Given the description of an element on the screen output the (x, y) to click on. 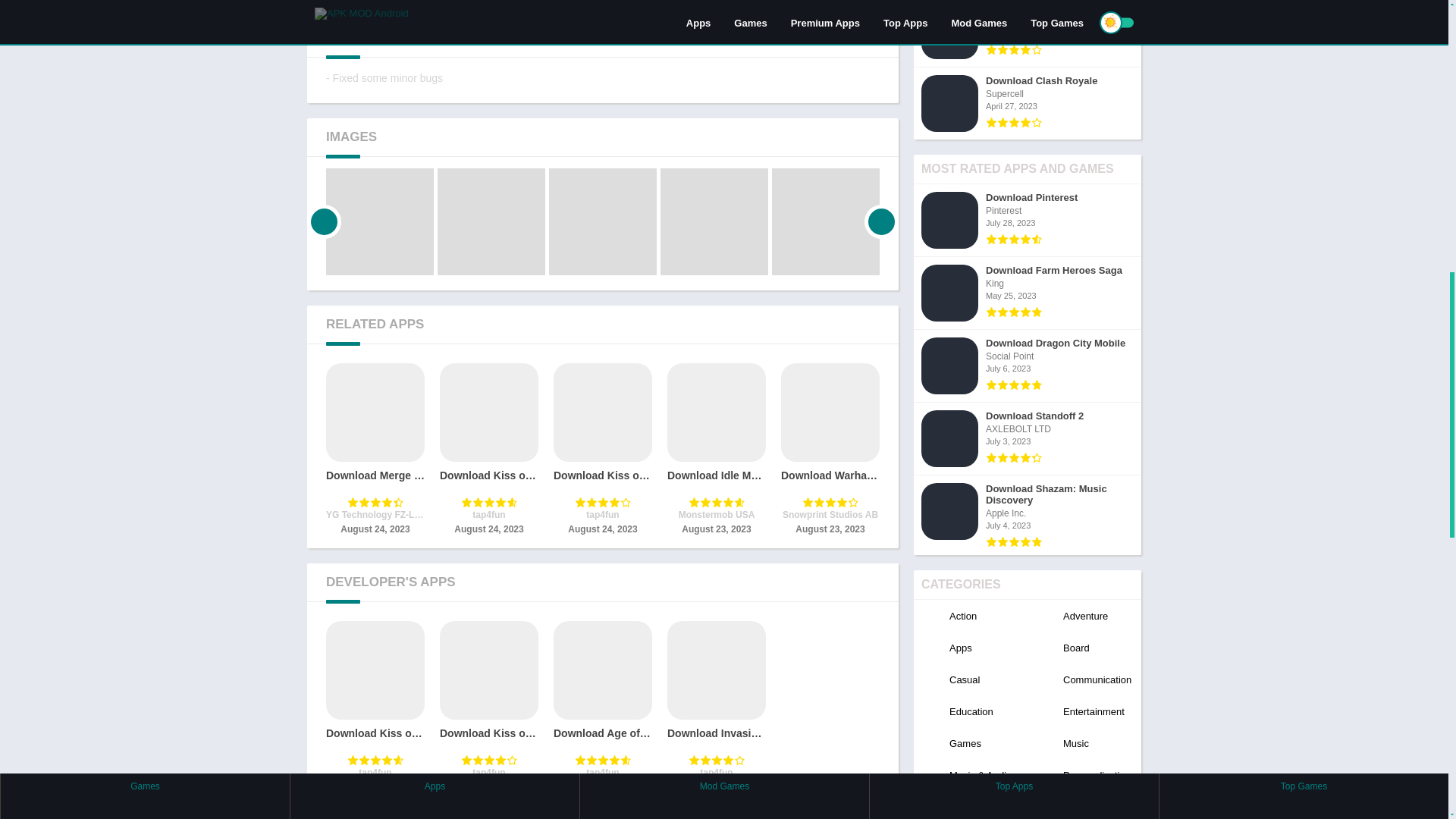
Download Idle Monster TD: Monster Games (715, 450)
Download Kiss of War (488, 450)
Download Warhammer 40,000: Tacticus (829, 450)
Download Merge Kingdoms (375, 450)
Download Kiss of War (375, 707)
